Given the description of an element on the screen output the (x, y) to click on. 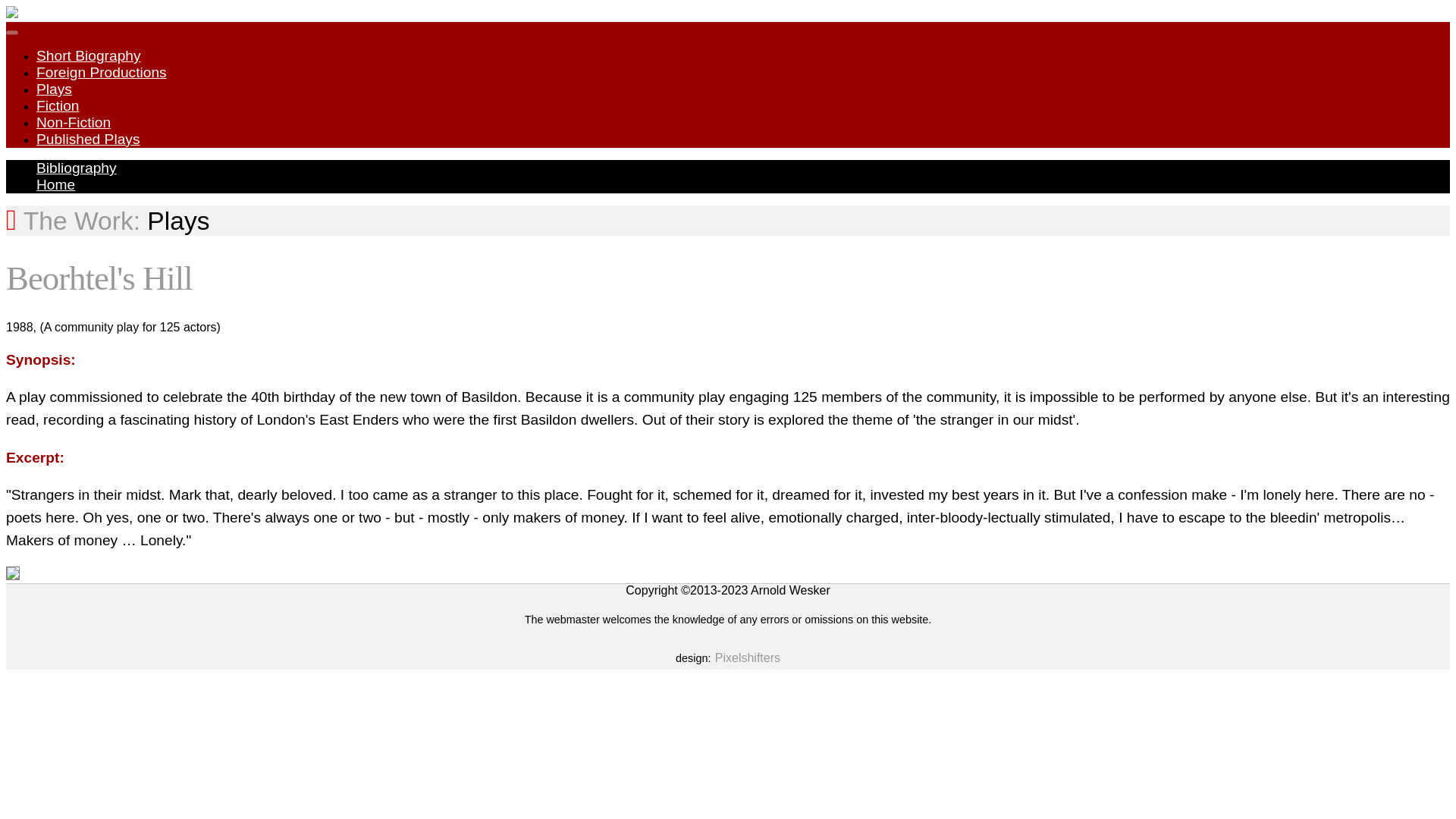
Plays (53, 89)
Published Plays (87, 139)
Home (55, 184)
Short Biography (88, 55)
Fiction (58, 105)
Non-Fiction (73, 122)
Foreign Productions (101, 72)
Bibliography (76, 167)
